Given the description of an element on the screen output the (x, y) to click on. 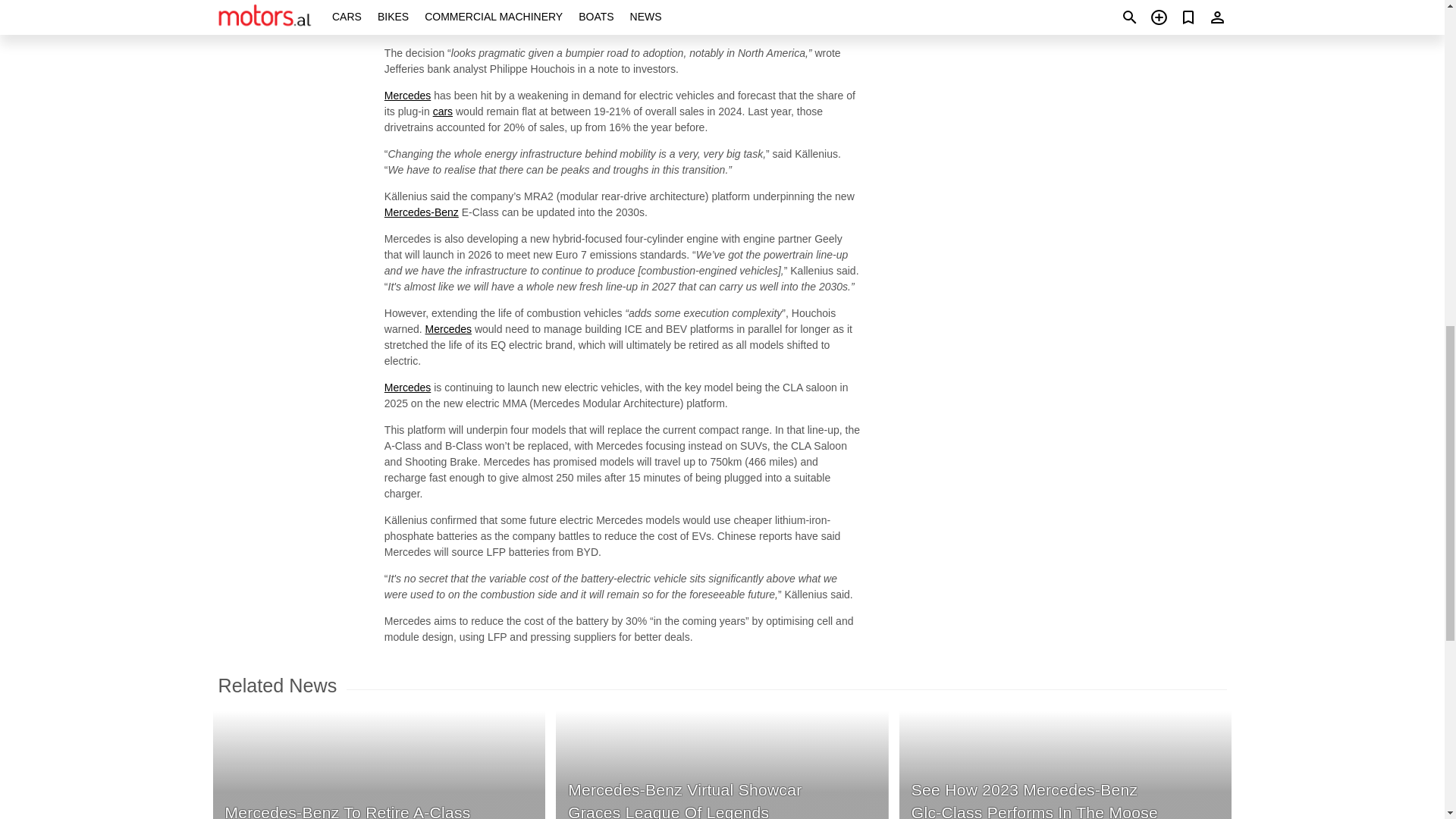
Mercedes (407, 387)
Mercedes for sale IN TIRANE (448, 328)
Mercedes for sale IN ALBANIA (407, 95)
cars (442, 111)
Mercedes (407, 0)
Mercedes for sale IN DURRES (407, 387)
Mercedes-Benz (421, 212)
Mercedes (448, 328)
